Given the description of an element on the screen output the (x, y) to click on. 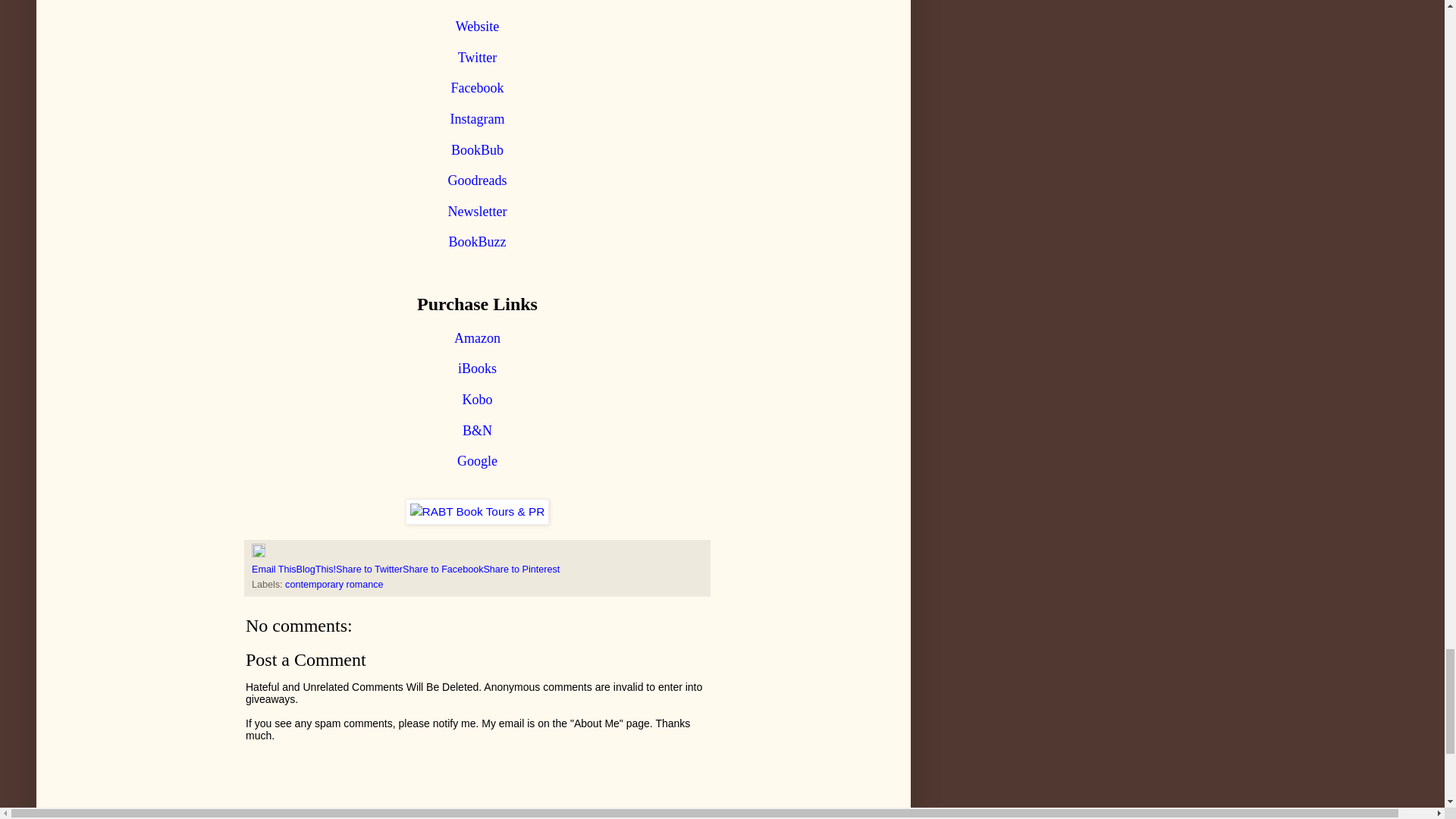
Amazon (477, 338)
Newsletter (477, 211)
Share to Facebook (443, 569)
BookBub (477, 150)
Google (477, 461)
Instagram (477, 119)
Email This (274, 569)
Twitter (477, 57)
Kobo (478, 399)
Website (477, 26)
